Given the description of an element on the screen output the (x, y) to click on. 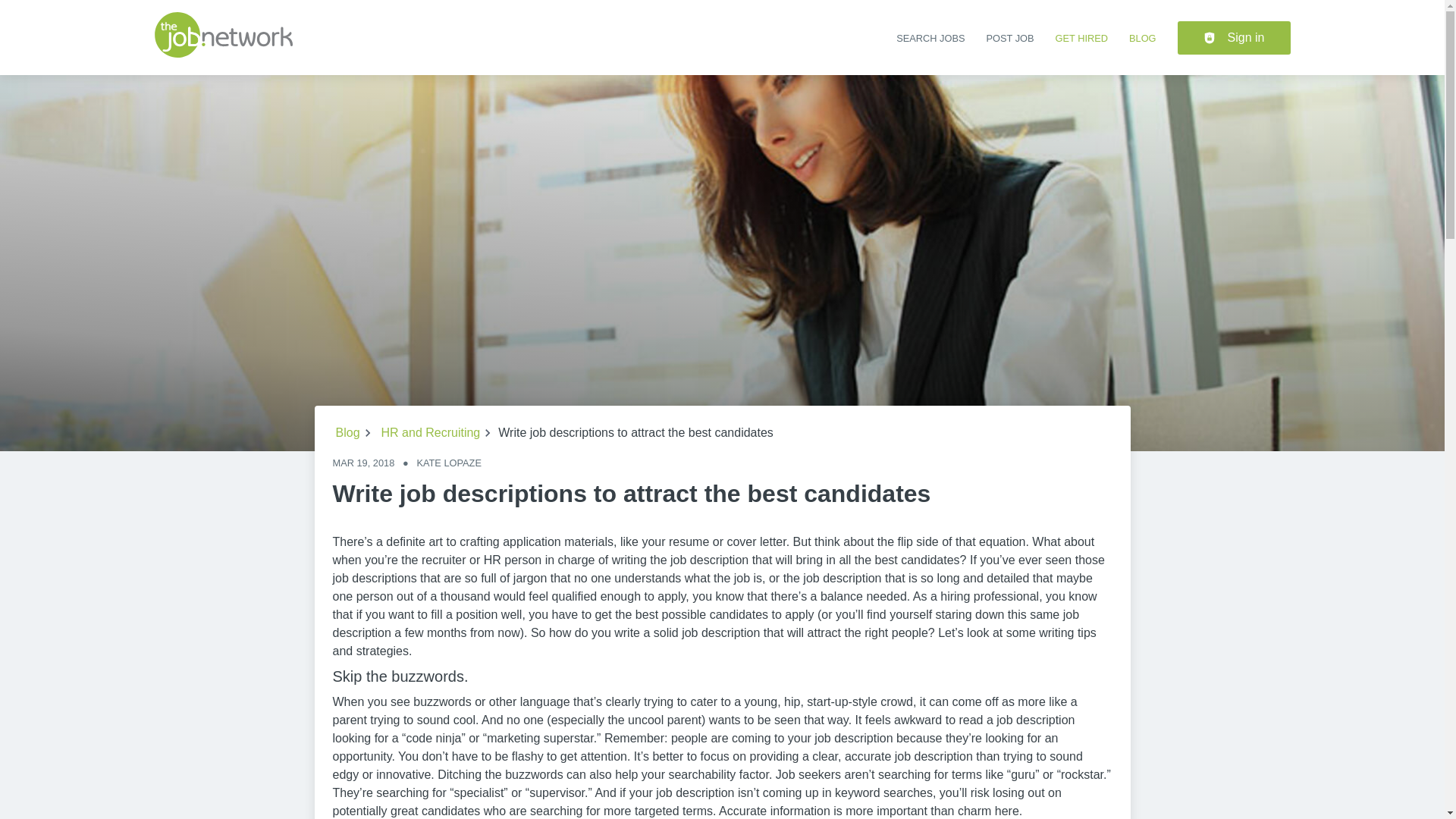
Sign in (1233, 37)
POST JOB (1009, 37)
BLOG (1142, 37)
HR and Recruiting (430, 433)
SEARCH JOBS (929, 37)
Blog (346, 433)
GET HIRED (1081, 37)
